Given the description of an element on the screen output the (x, y) to click on. 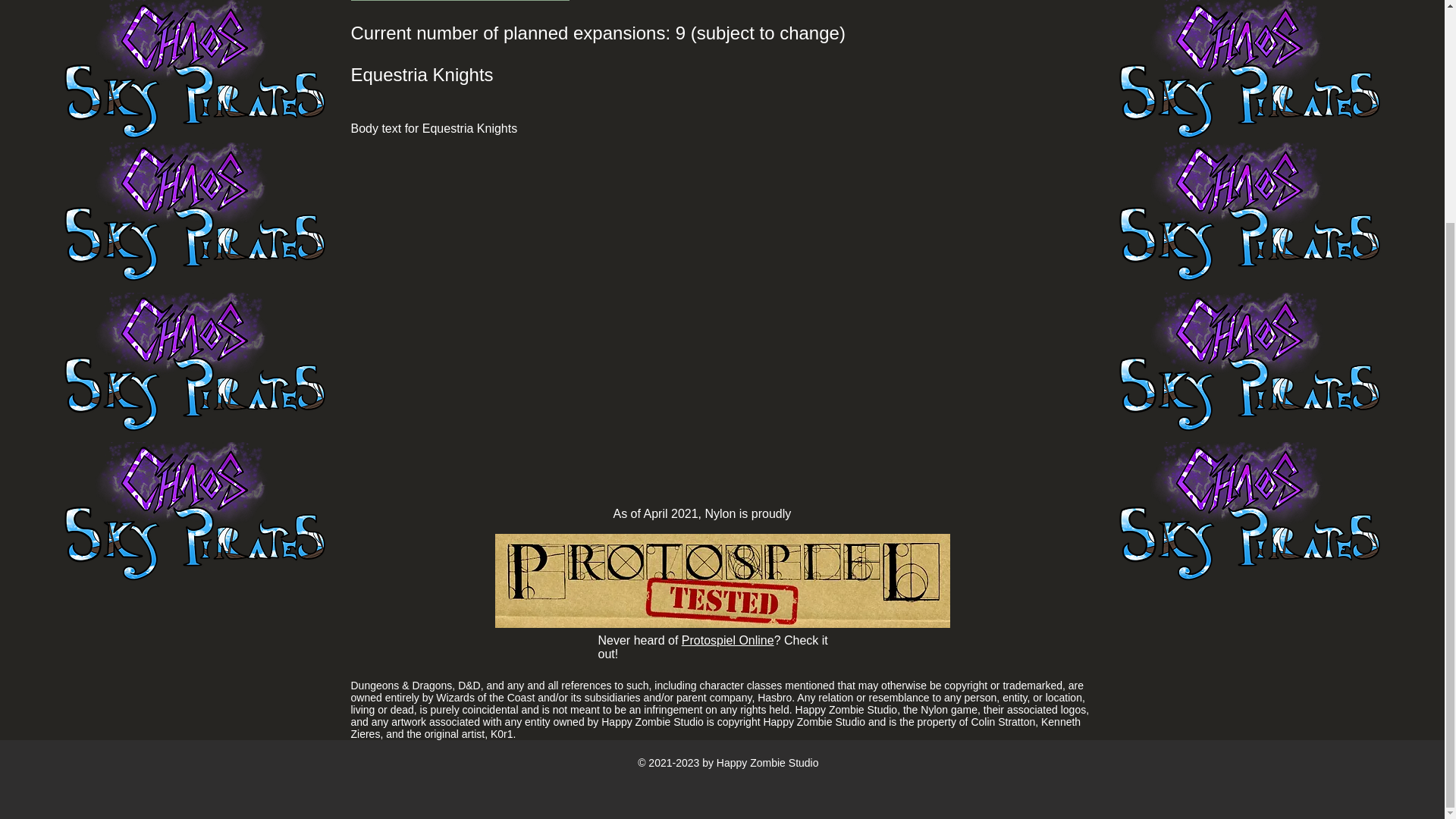
Chaos-Sky-Pirates.png (194, 365)
Chaos-Sky-Pirates.png (1249, 72)
Chaos-Sky-Pirates.png (194, 215)
Chaos-Sky-Pirates.png (1249, 515)
Chaos-Sky-Pirates.png (1249, 365)
Chaos-Sky-Pirates.png (1249, 215)
Chaos-Sky-Pirates.png (194, 515)
Protospiel Online (727, 640)
Chaos-Sky-Pirates.png (194, 72)
